Given the description of an element on the screen output the (x, y) to click on. 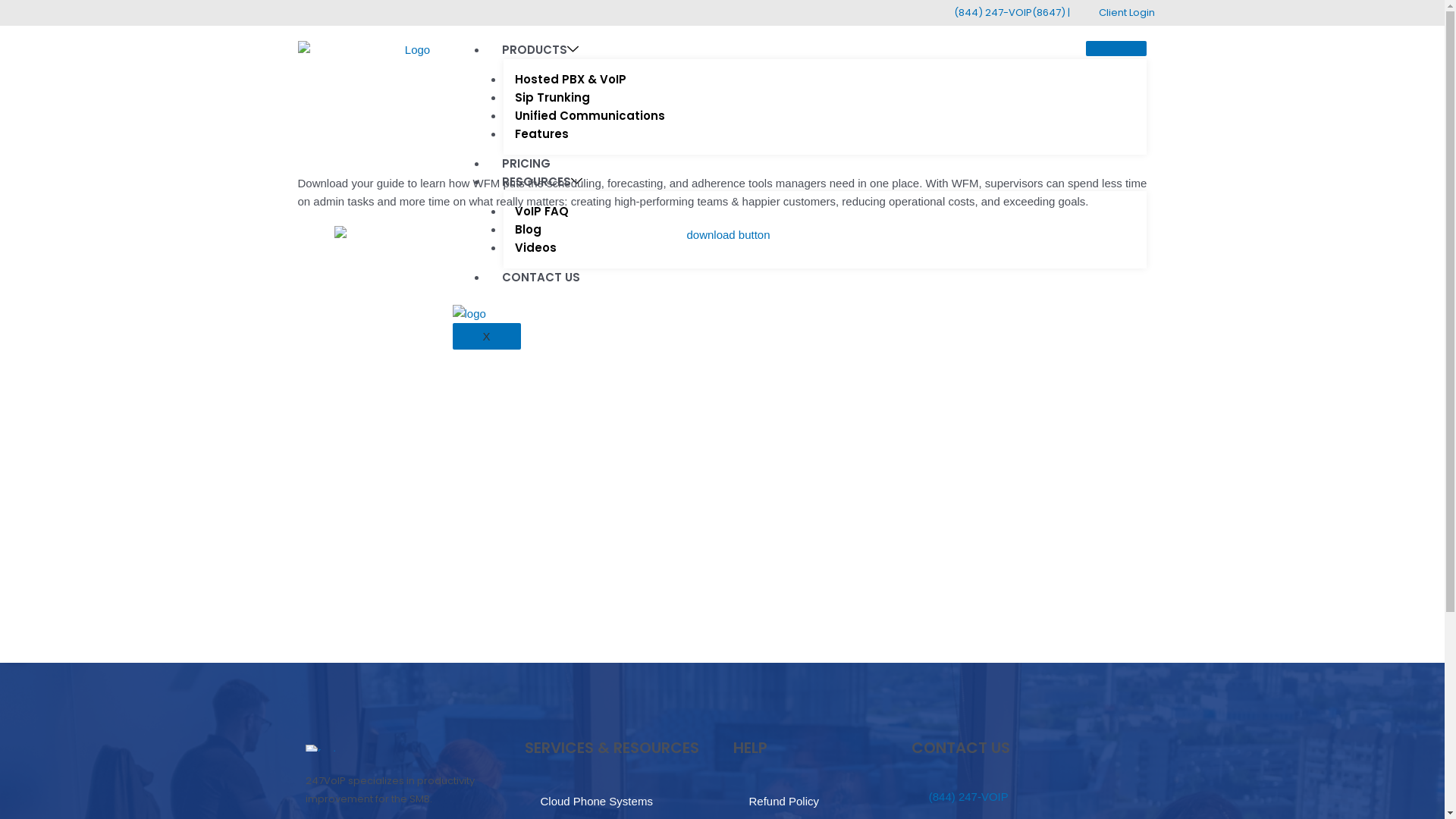
CONTACT US Element type: text (540, 277)
Hosted PBX & VoIP Element type: text (570, 78)
(844) 247-VOIP(8647) | Element type: text (1004, 12)
Unified Communications Element type: text (589, 115)
PRODUCTS Element type: text (539, 49)
Client Login Element type: text (1118, 12)
RESOURCES Element type: text (541, 181)
VoIP FAQ Element type: text (541, 210)
Features Element type: text (541, 133)
Refund Policy Element type: text (783, 800)
PRICING Element type: text (525, 163)
Blog Element type: text (527, 228)
X Element type: text (485, 336)
(844) 247-VOIP Element type: text (1025, 796)
Sip Trunking Element type: text (552, 96)
Cloud Phone Systems Element type: text (595, 800)
Videos Element type: text (535, 247)
